Given the description of an element on the screen output the (x, y) to click on. 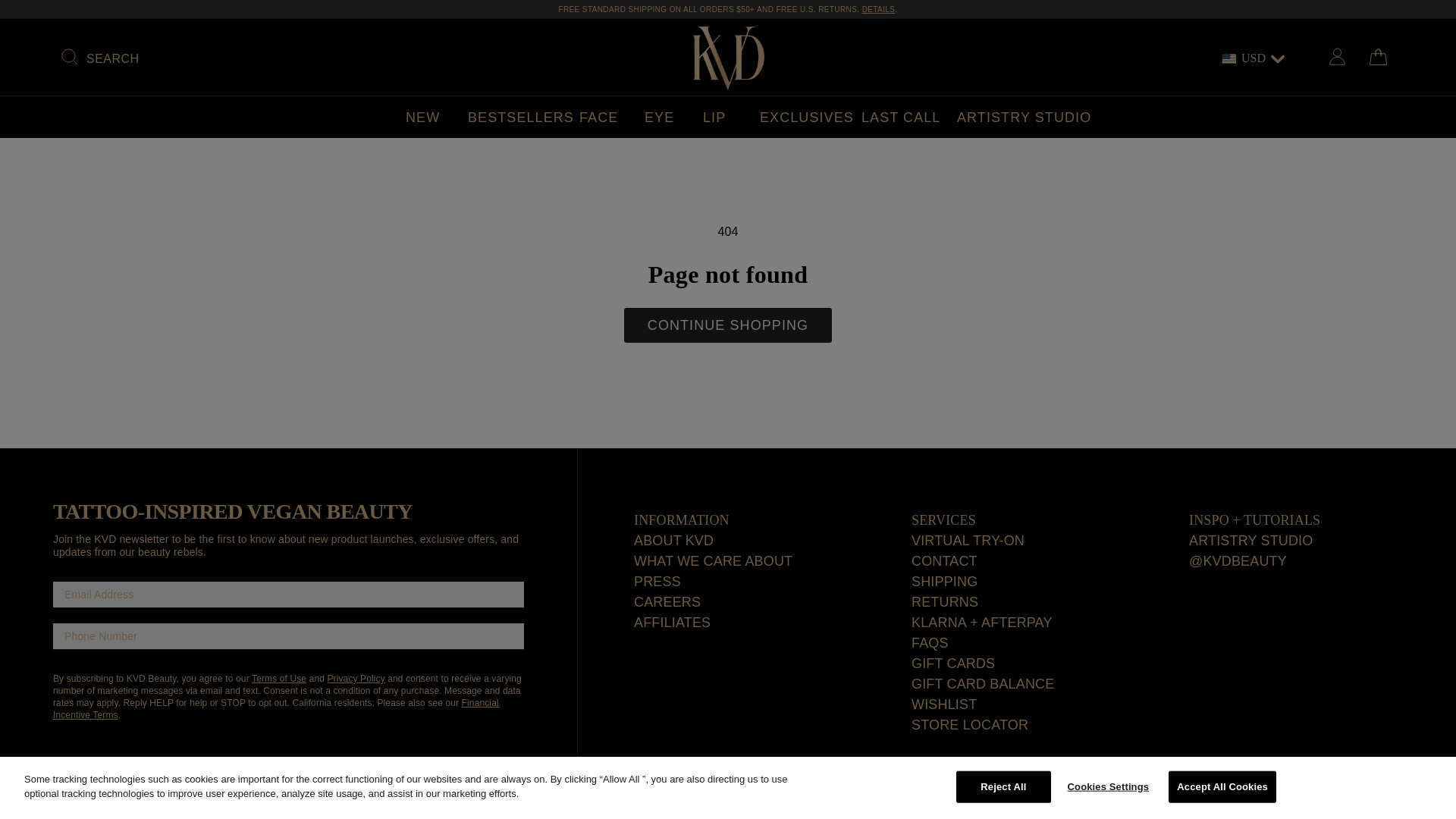
account - kvd icon (1336, 55)
SHIPPING (878, 9)
DETAILS (878, 9)
search - kvd icon (69, 56)
facebook - kvd icon (1272, 798)
NEW (422, 117)
youtube - kvd icon (1365, 798)
search - kvd icon (69, 57)
USD (1252, 58)
FACE (598, 117)
instagram - kvd icon (1333, 798)
Login (1336, 58)
BESTSELLERS (520, 117)
bag - kvd icon (1378, 56)
twitter - kvd icon (1302, 799)
